Given the description of an element on the screen output the (x, y) to click on. 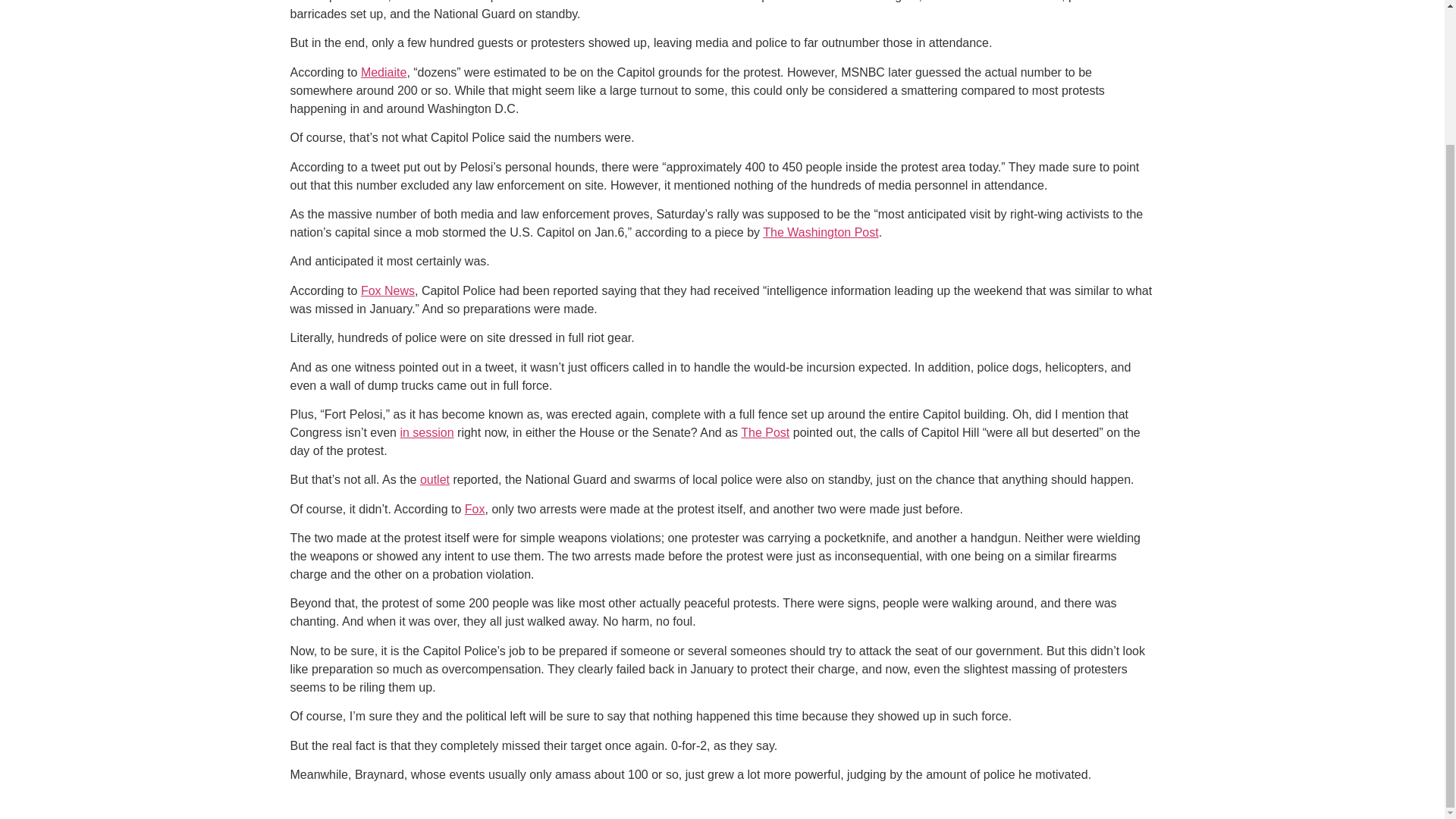
The Post (765, 431)
outlet (434, 479)
in session (425, 431)
Fox News (387, 290)
Fox (474, 508)
The Washington Post (819, 232)
Mediaite (383, 72)
